Given the description of an element on the screen output the (x, y) to click on. 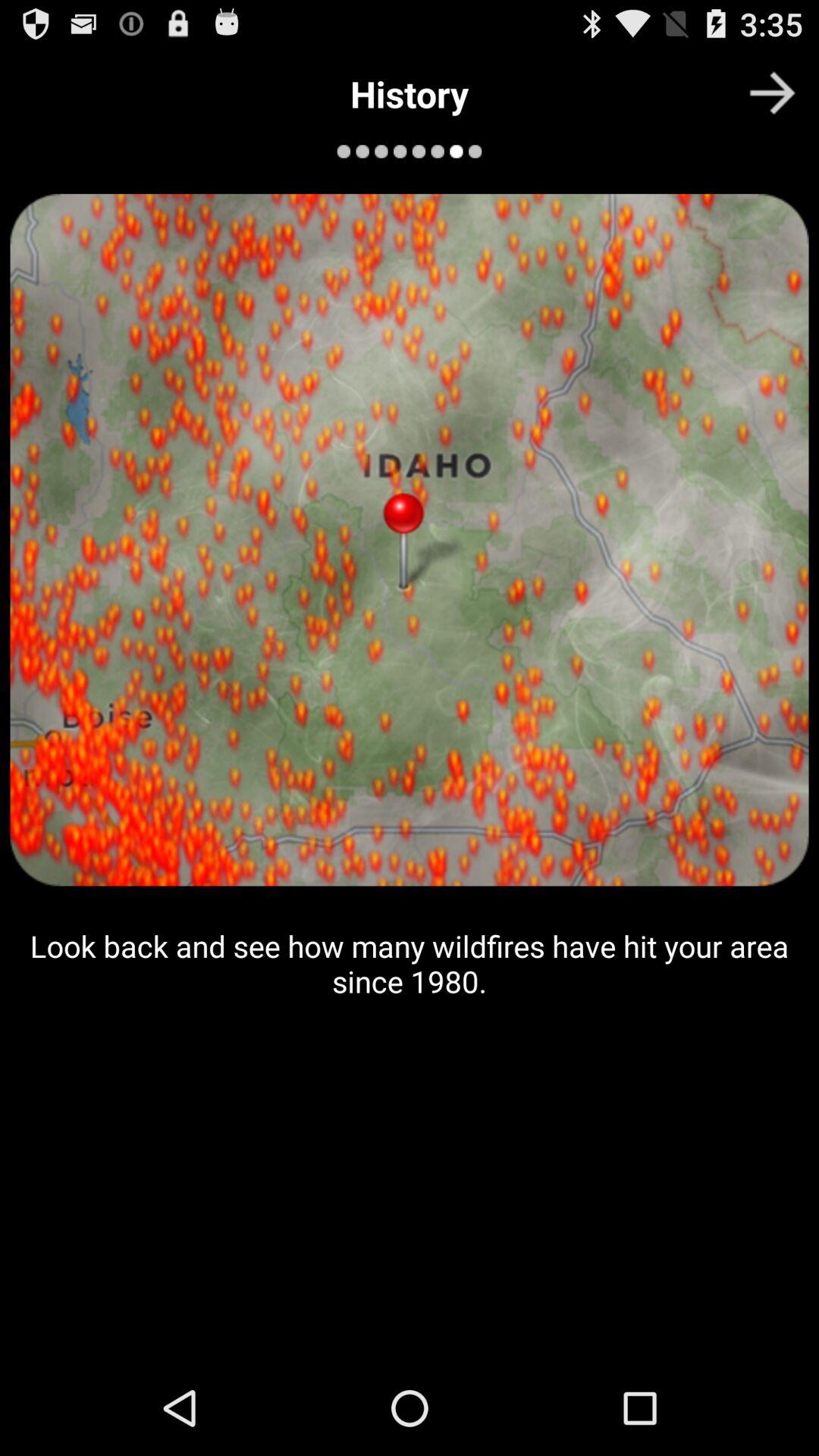
go forward (772, 92)
